Given the description of an element on the screen output the (x, y) to click on. 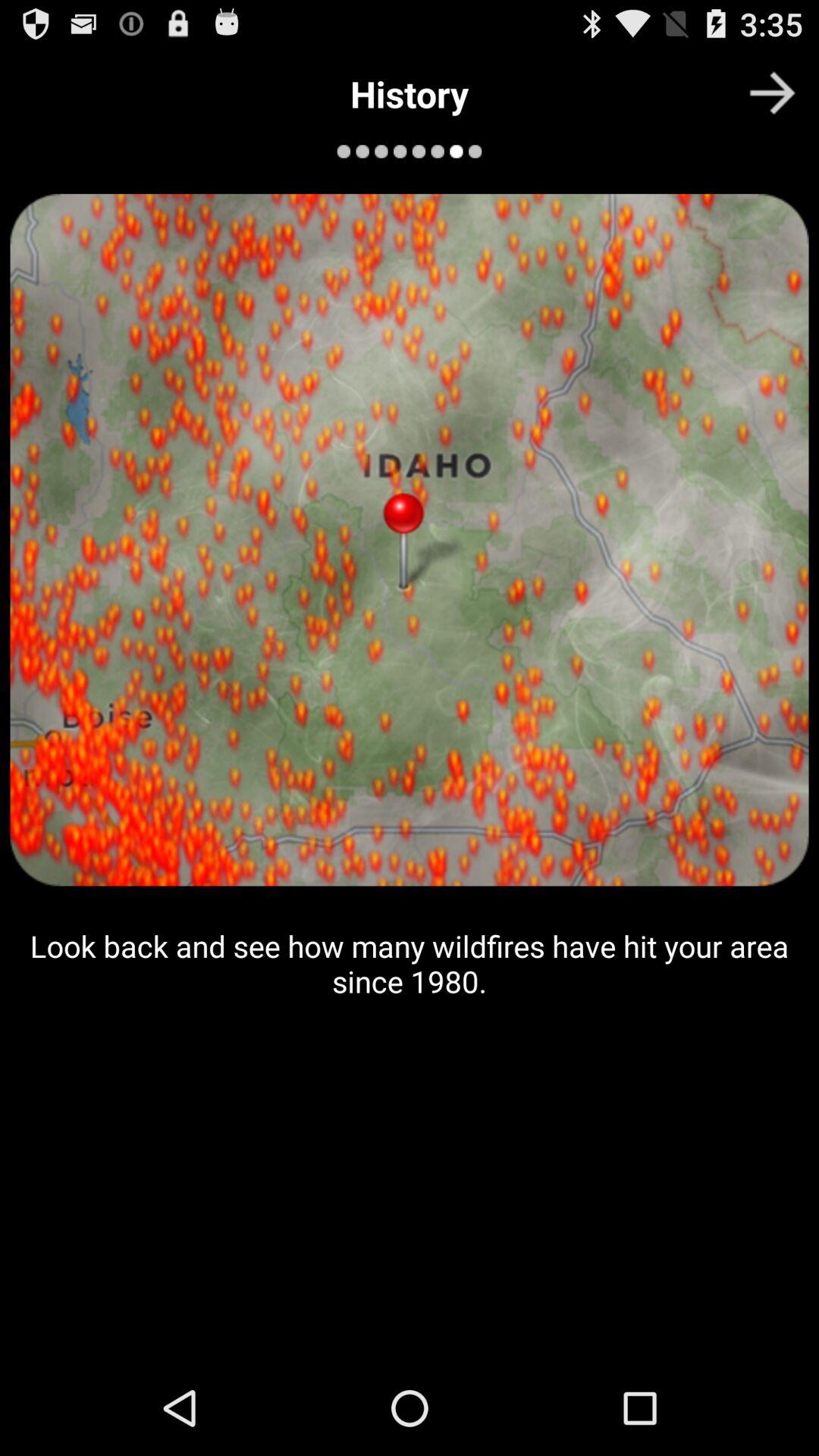
go forward (772, 92)
